Given the description of an element on the screen output the (x, y) to click on. 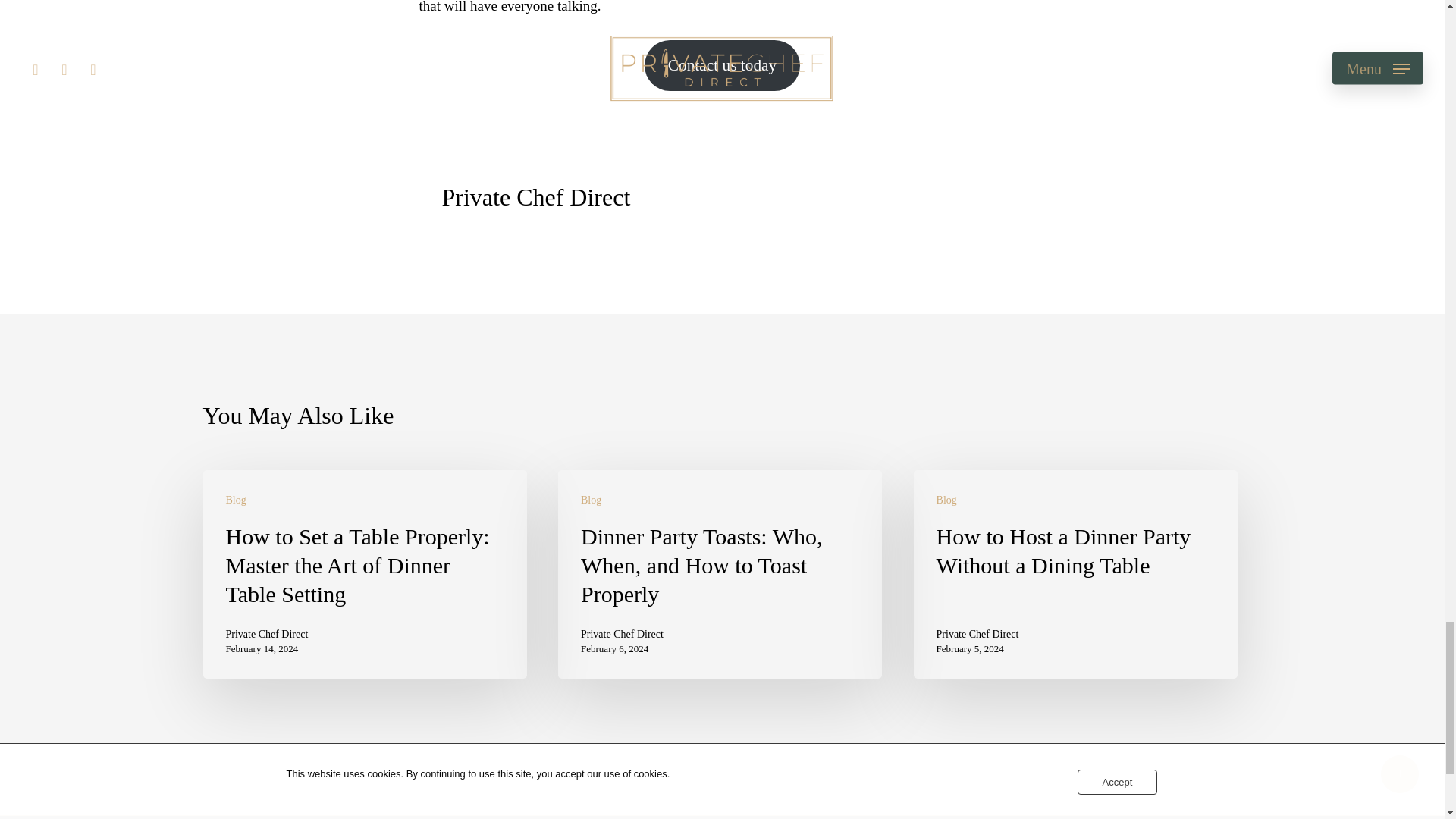
Blog (235, 499)
Private Chef Direct (621, 634)
Private Chef Direct (977, 634)
Contact us today (722, 65)
Blog (946, 499)
Blog (590, 499)
Private Chef Direct (535, 196)
Private Chef Direct (266, 634)
